Given the description of an element on the screen output the (x, y) to click on. 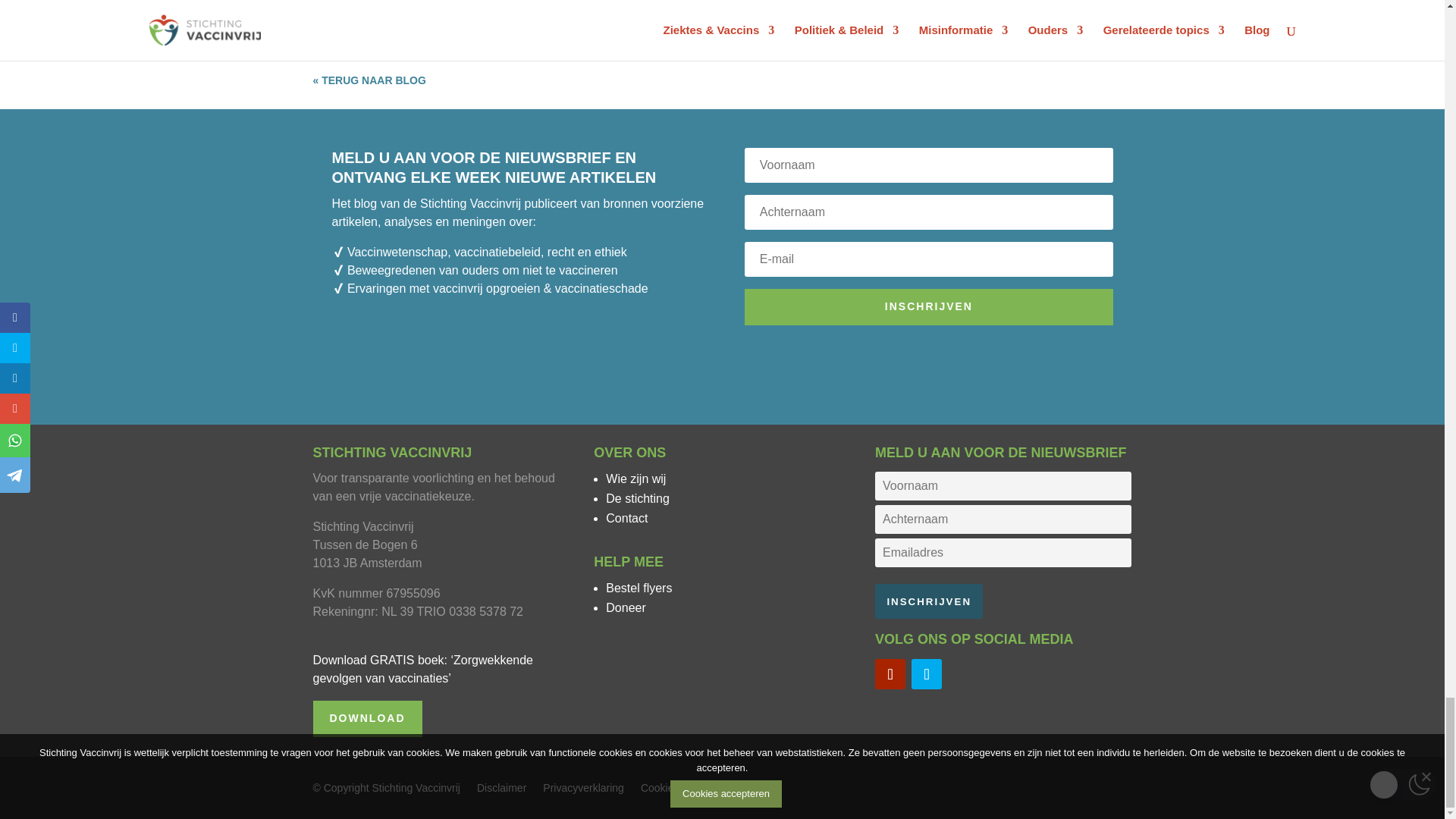
Volgknop (890, 674)
Volgknop (926, 674)
Inschrijven (928, 601)
